Given the description of an element on the screen output the (x, y) to click on. 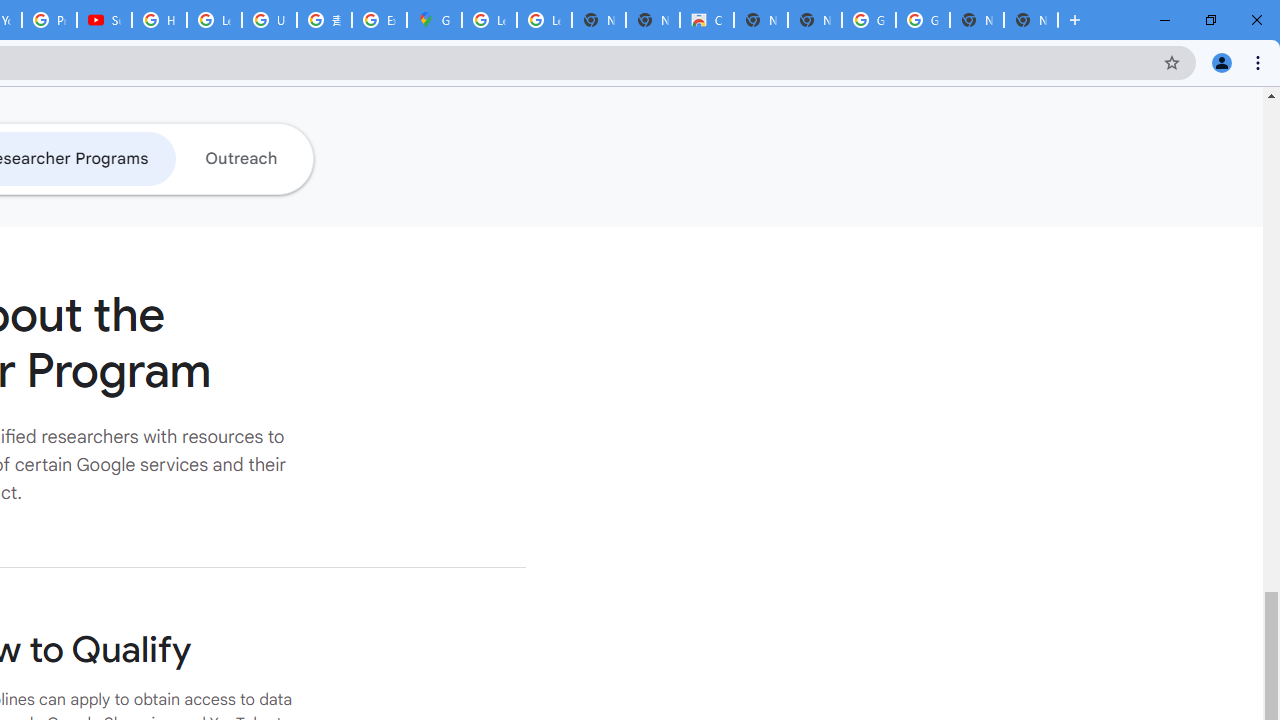
Google Images (922, 20)
Google Maps (434, 20)
